Given the description of an element on the screen output the (x, y) to click on. 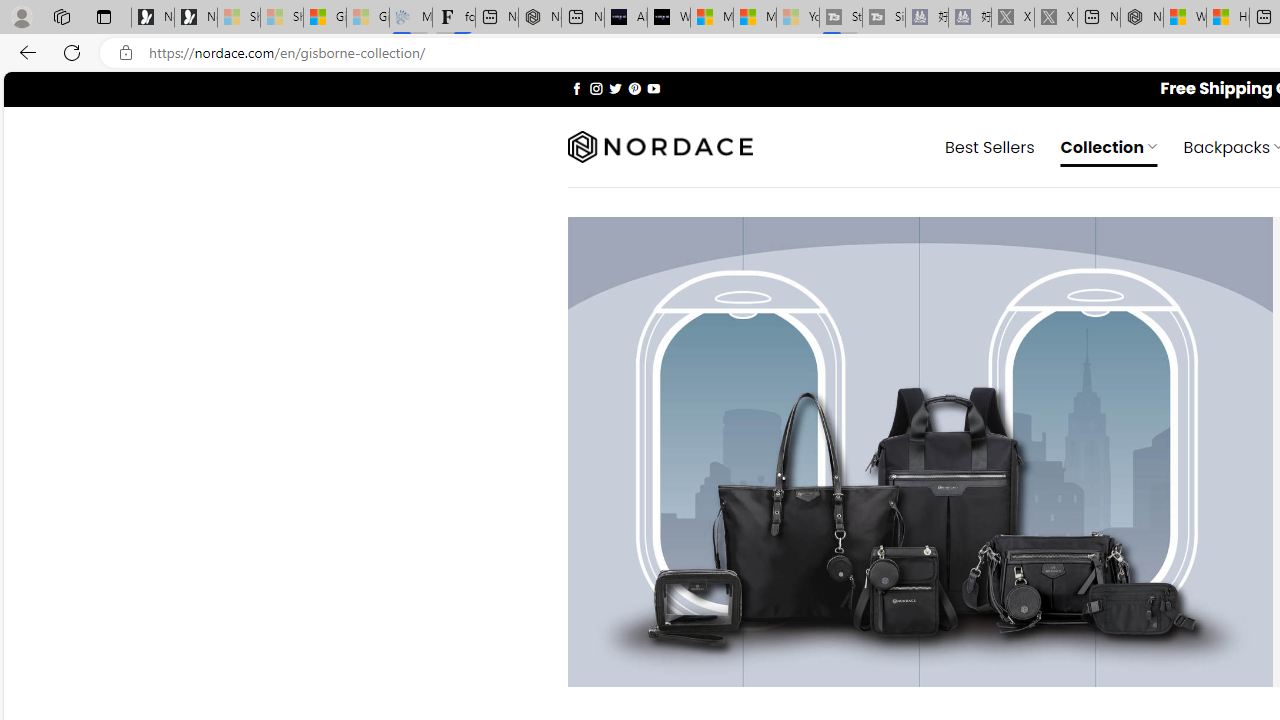
 Best Sellers (989, 146)
